Given the description of an element on the screen output the (x, y) to click on. 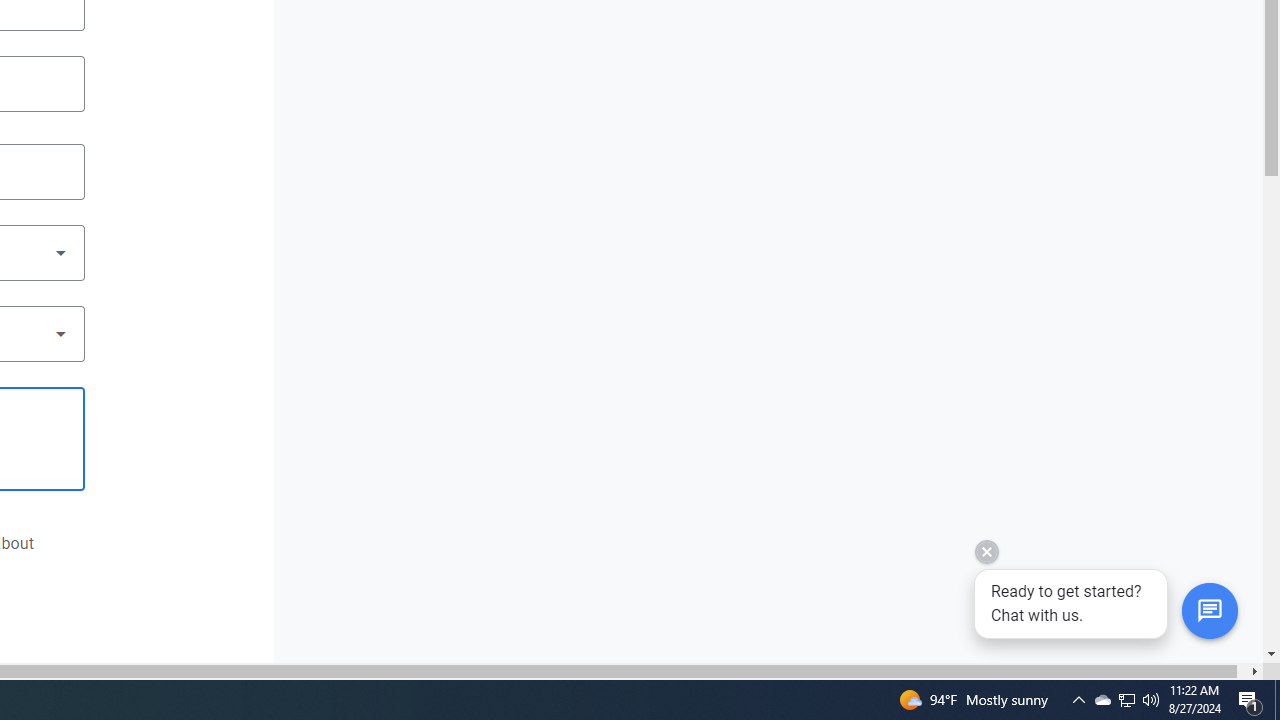
Button to activate chat (1209, 611)
